Given the description of an element on the screen output the (x, y) to click on. 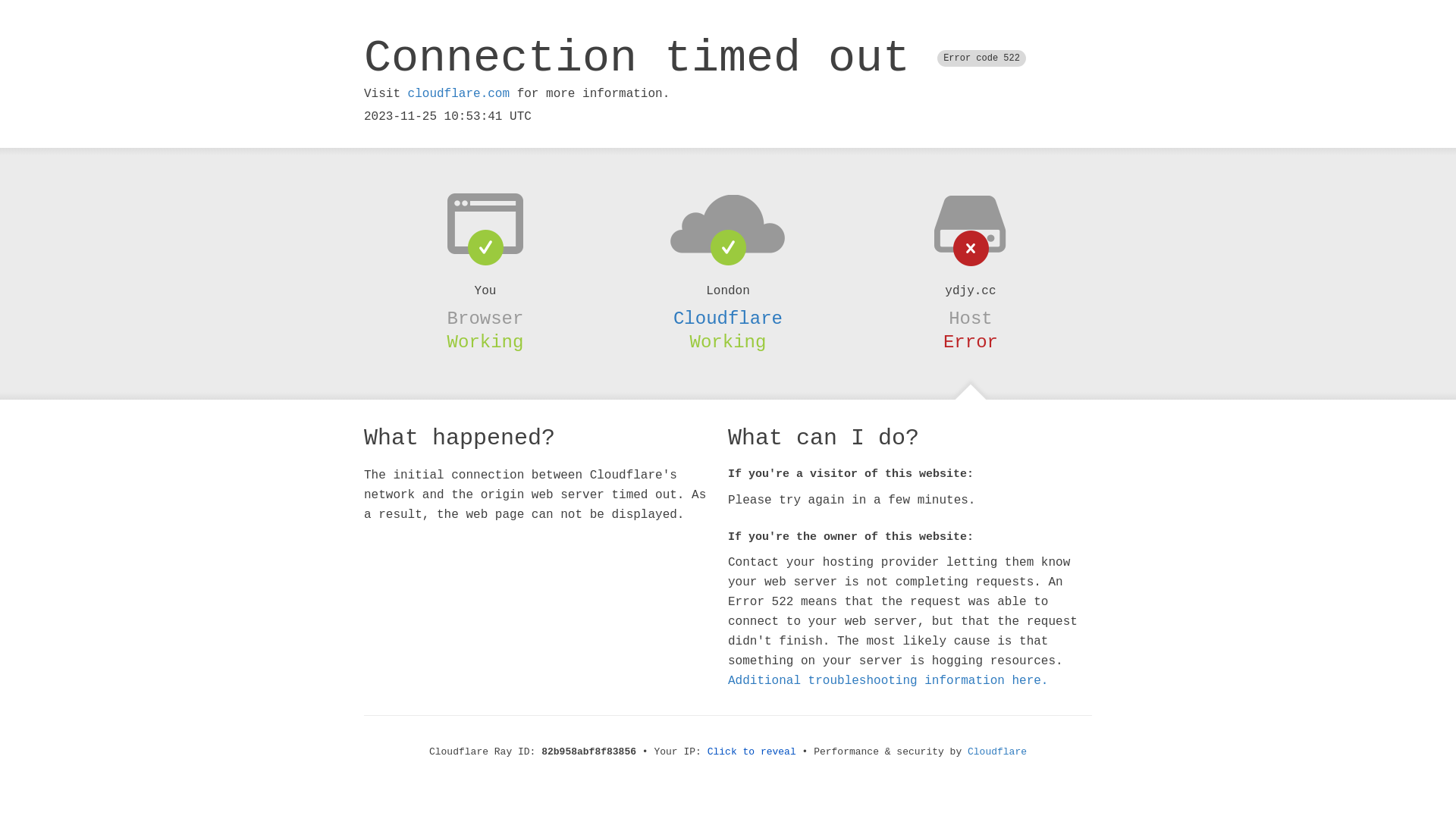
Click to reveal Element type: text (751, 751)
Cloudflare Element type: text (727, 318)
cloudflare.com Element type: text (458, 93)
Cloudflare Element type: text (996, 751)
Additional troubleshooting information here. Element type: text (888, 680)
